Given the description of an element on the screen output the (x, y) to click on. 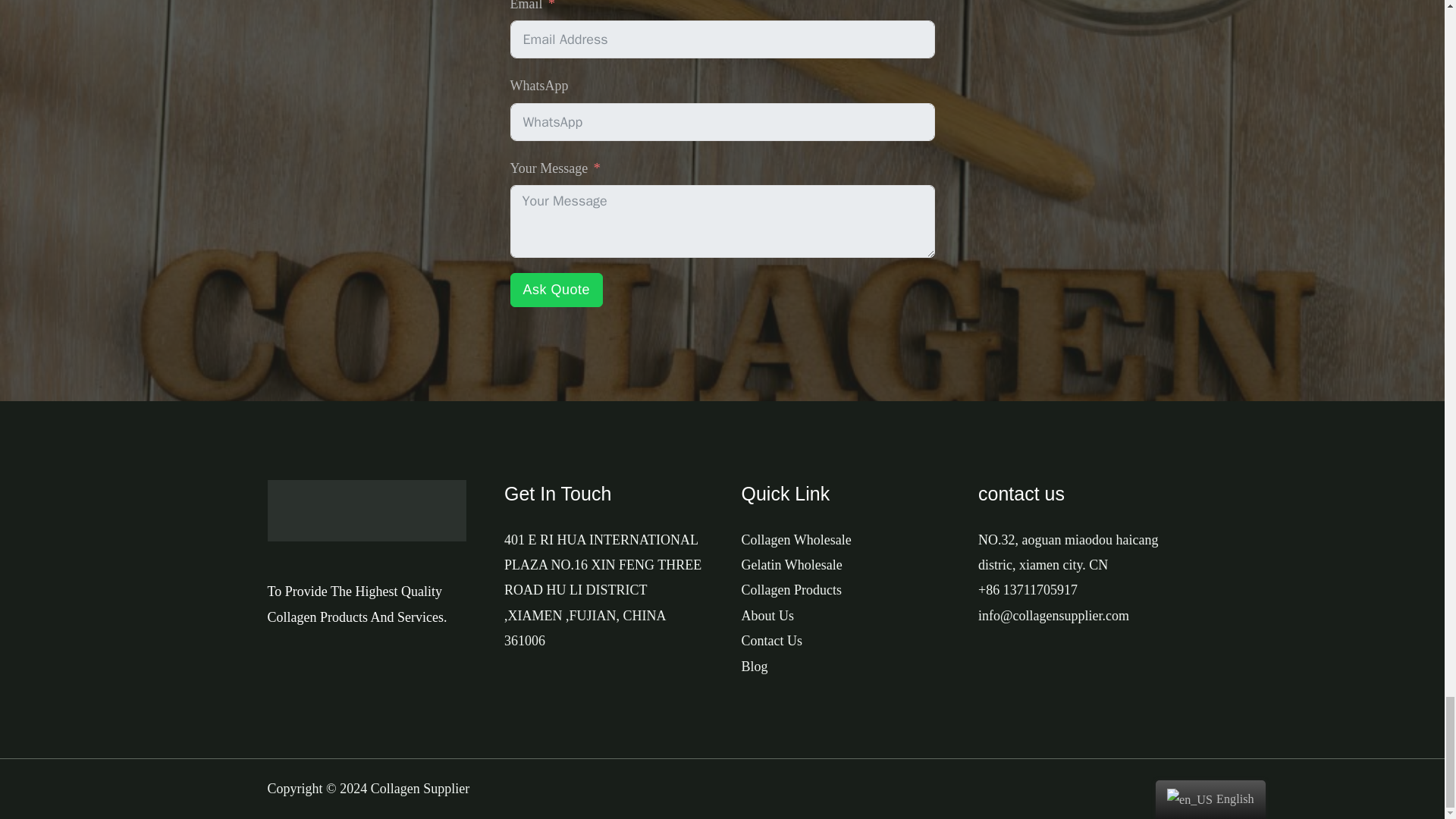
Blog (754, 666)
Collagen Products (792, 589)
Gelatin Wholesale (792, 564)
Ask Quote (555, 289)
About Us (767, 615)
Collagen Wholesale (796, 539)
Contact Us (772, 640)
